Given the description of an element on the screen output the (x, y) to click on. 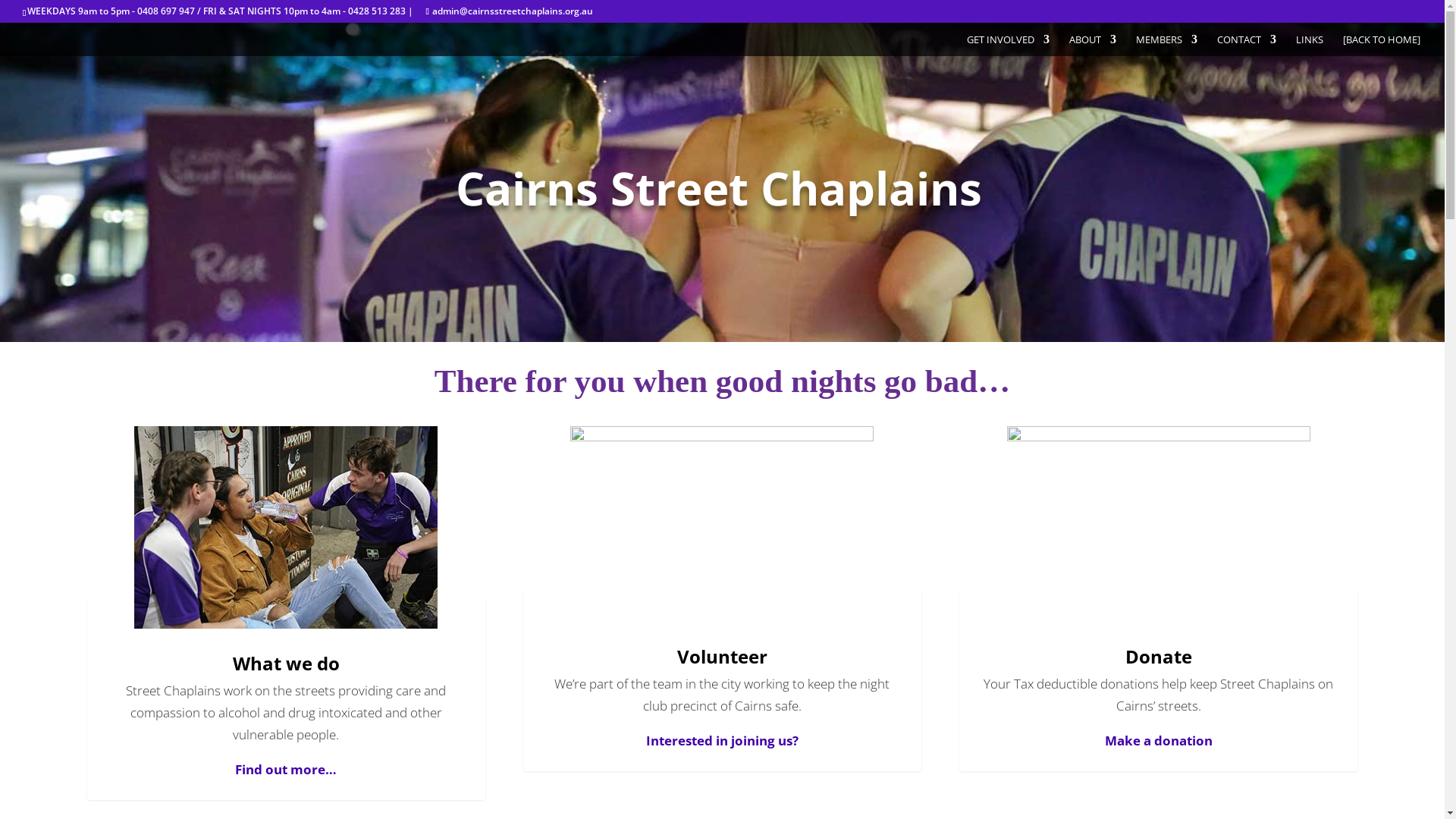
Make a donation Element type: text (1158, 740)
LINKS Element type: text (1309, 45)
[BACK TO HOME] Element type: text (1381, 45)
GET INVOLVED Element type: text (1007, 45)
CONTACT Element type: text (1246, 45)
Interested in joining us? Element type: text (722, 740)
MEMBERS Element type: text (1166, 45)
What we do Element type: text (285, 662)
Donate Element type: text (1158, 655)
ABOUT Element type: text (1092, 45)
Volunteer Element type: text (722, 655)
admin@cairnsstreetchaplains.org.au Element type: text (508, 10)
